Given the description of an element on the screen output the (x, y) to click on. 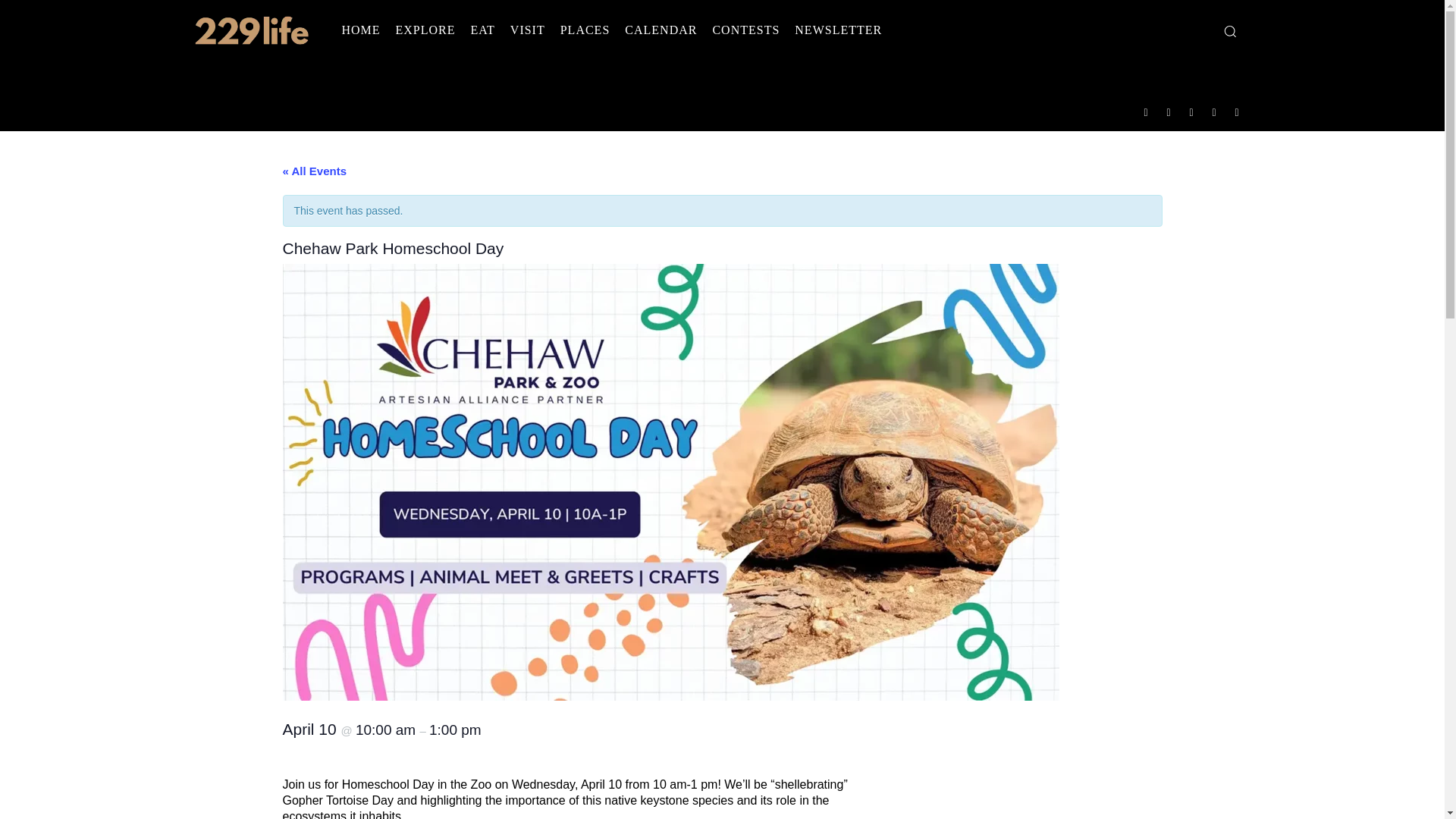
HOME (360, 30)
CONTESTS (745, 30)
PLACES (585, 30)
Facebook (1145, 111)
Instagram (1169, 111)
NEWSLETTER (838, 30)
Twitter (1214, 111)
TikTok (1191, 111)
CALENDAR (660, 30)
VISIT (527, 30)
Youtube (1237, 111)
EXPLORE (425, 30)
